Given the description of an element on the screen output the (x, y) to click on. 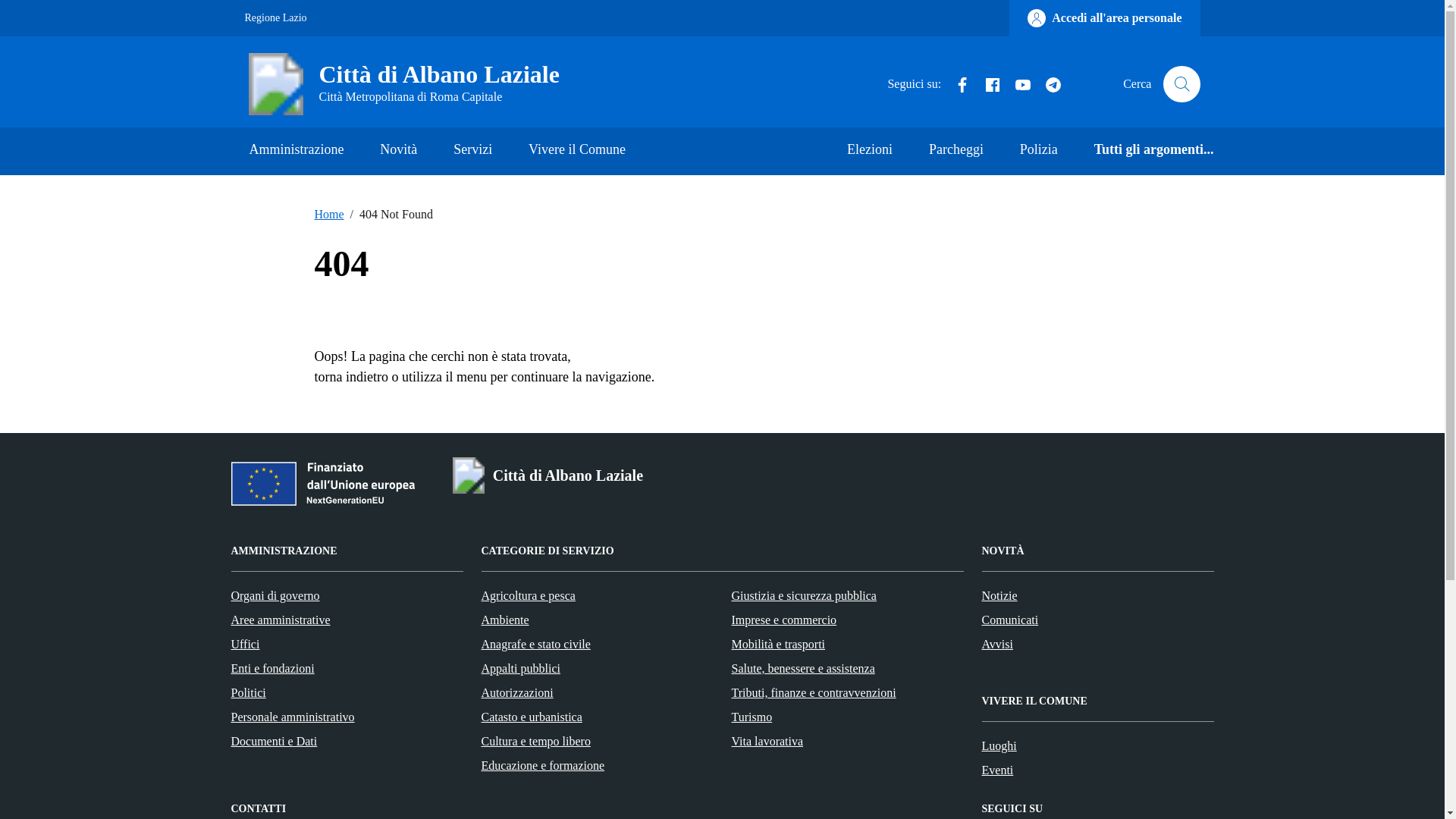
Accedi all'area personale (1104, 18)
Servizi (473, 151)
Tutti gli argomenti... (1144, 151)
Vai al portale Regione Lazio (274, 18)
Aree amministrative (280, 619)
Torna alla pagina precedente (350, 376)
Parcheggi (956, 151)
Vivere il Comune (577, 151)
torna indietro (350, 376)
Vai alla Homepage (410, 84)
